Given the description of an element on the screen output the (x, y) to click on. 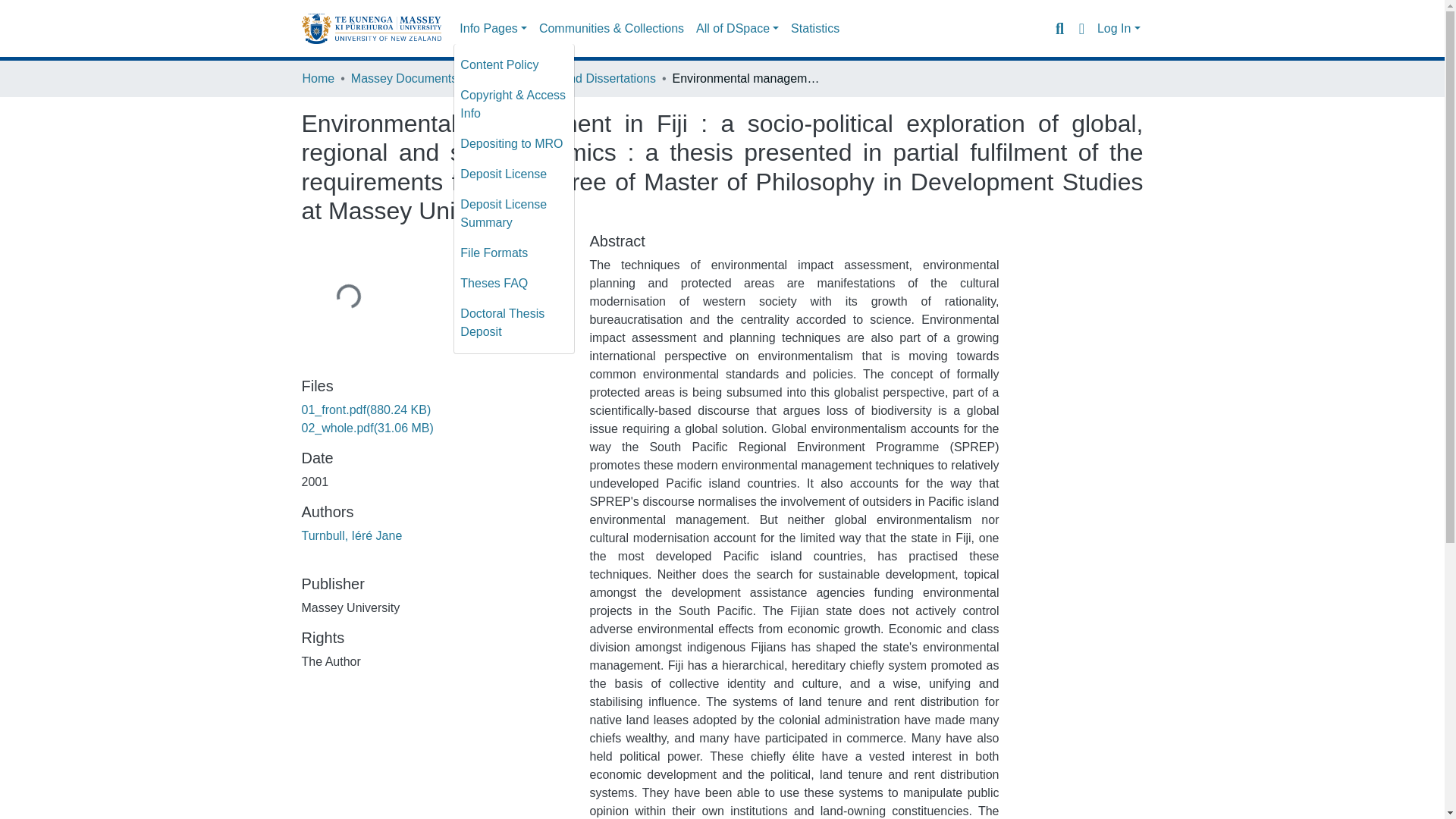
Deposit License Summary (513, 213)
Depositing to MRO (513, 143)
Info Pages (492, 28)
Theses FAQ (513, 283)
Statistics (814, 28)
Language switch (1081, 28)
Log In (1118, 28)
Deposit License (513, 173)
File Formats (513, 253)
Theses and Dissertations (587, 78)
